Given the description of an element on the screen output the (x, y) to click on. 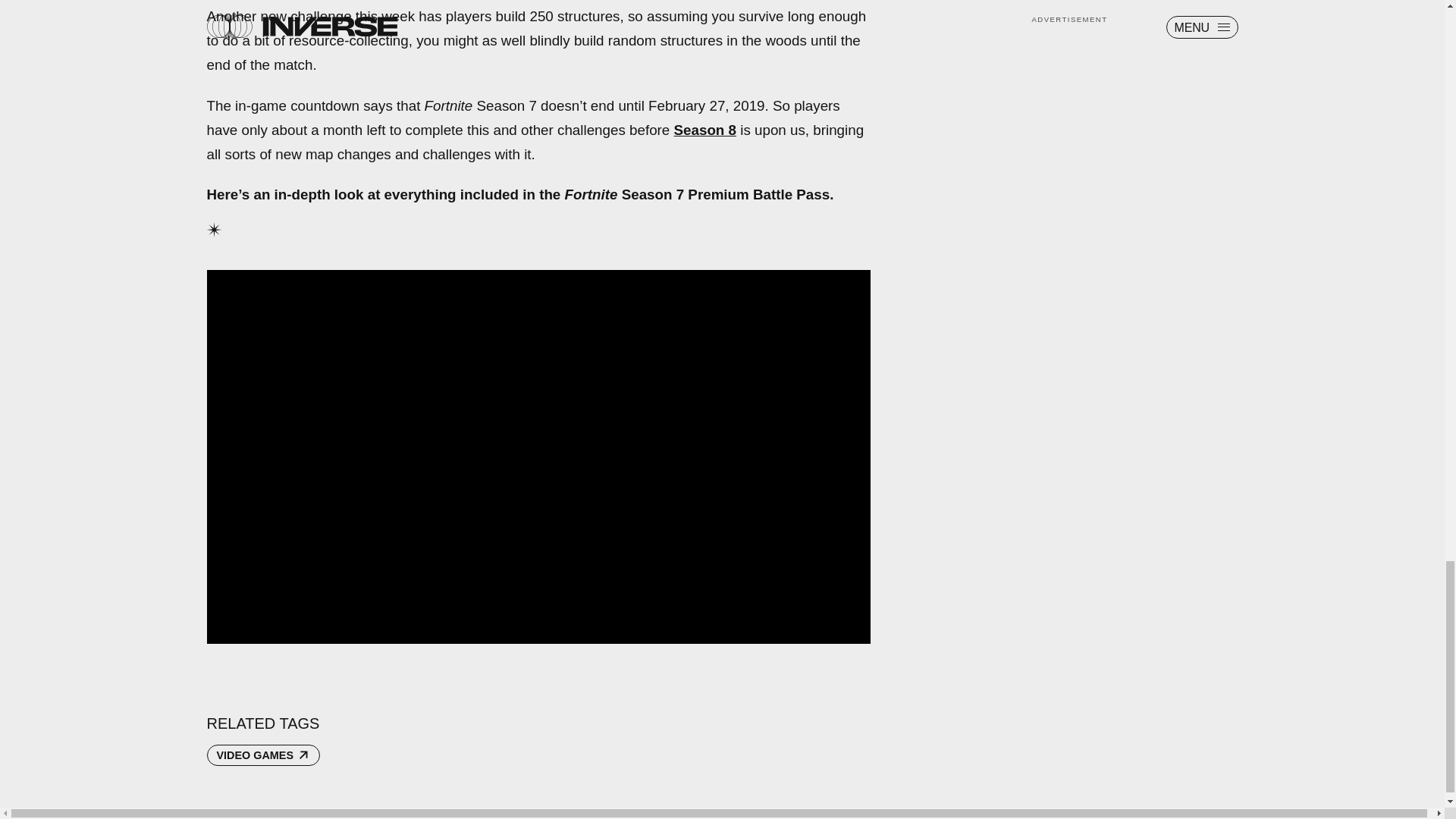
Season 8 (705, 130)
VIDEO GAMES (263, 754)
